Given the description of an element on the screen output the (x, y) to click on. 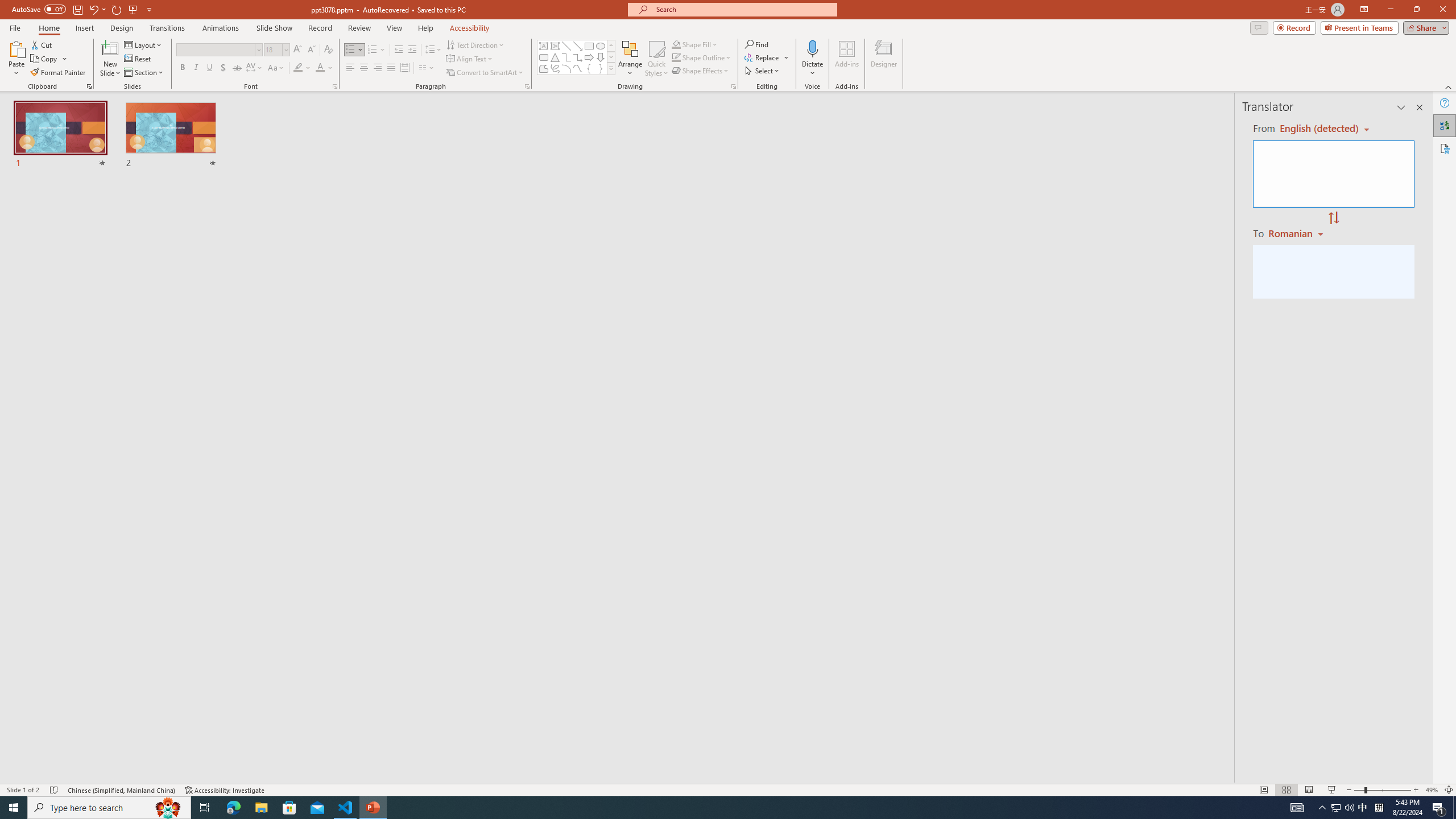
Swap "from" and "to" languages. (1333, 218)
Czech (detected) (1319, 128)
Shape Fill Dark Green, Accent 2 (675, 44)
Romanian (1296, 232)
